Given the description of an element on the screen output the (x, y) to click on. 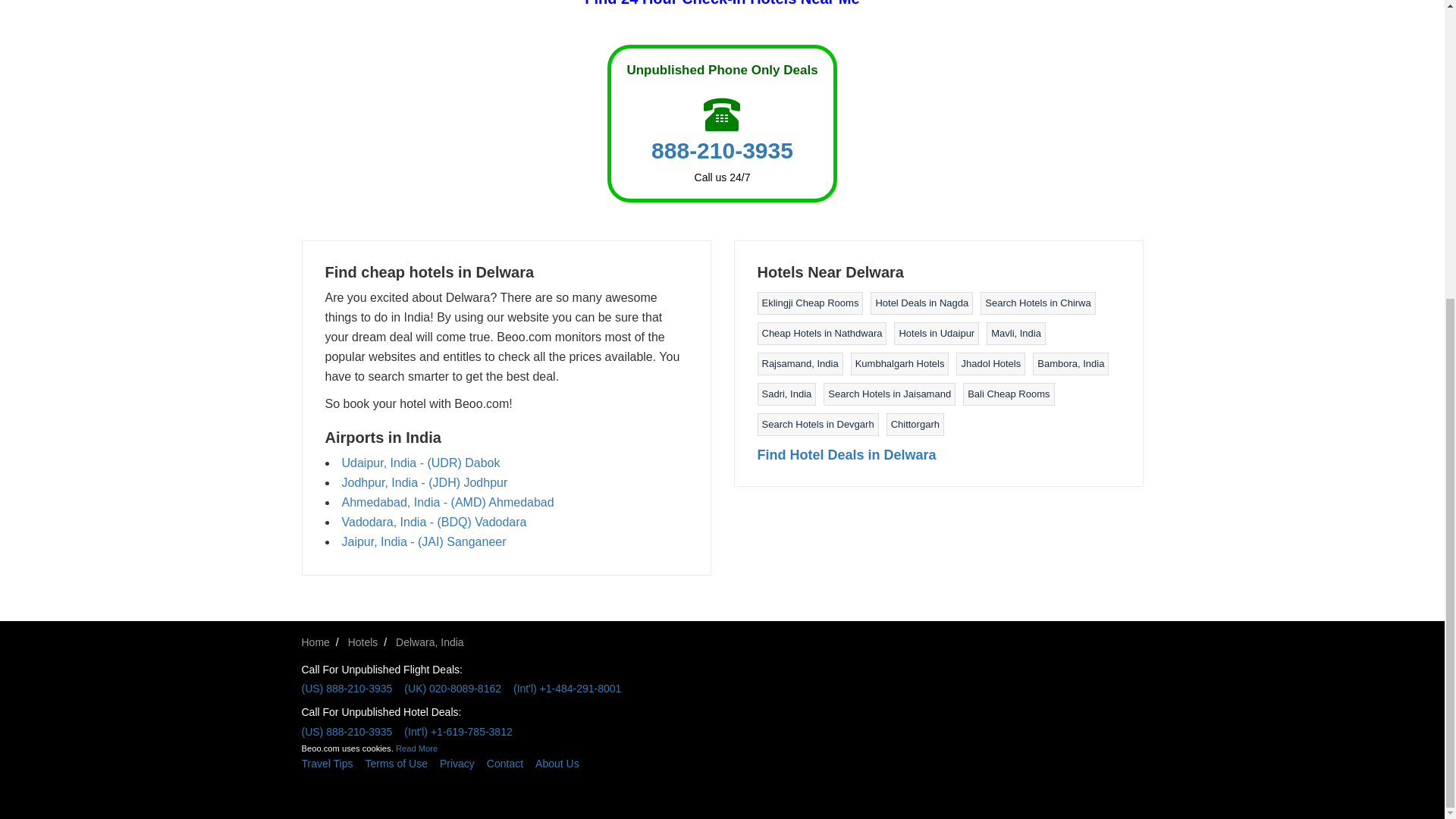
Hotels (362, 642)
Hotels in Udaipur (936, 333)
Kumbhalgarh Hotels (900, 363)
Hotel Deals in Nagda (921, 302)
Bambora, India (1069, 363)
Cheap Hotels in Nathdwara (821, 333)
Delwara, India (430, 642)
Search Hotels in Jaisamand (889, 393)
Find 24 Hour Check-In Hotels Near Me (722, 3)
Travel Tips (333, 763)
Read More (417, 747)
Bali Cheap Rooms (1008, 393)
Find Hotel Deals in Delwara (846, 455)
Home (315, 642)
Search Hotels in Chirwa (1037, 302)
